Given the description of an element on the screen output the (x, y) to click on. 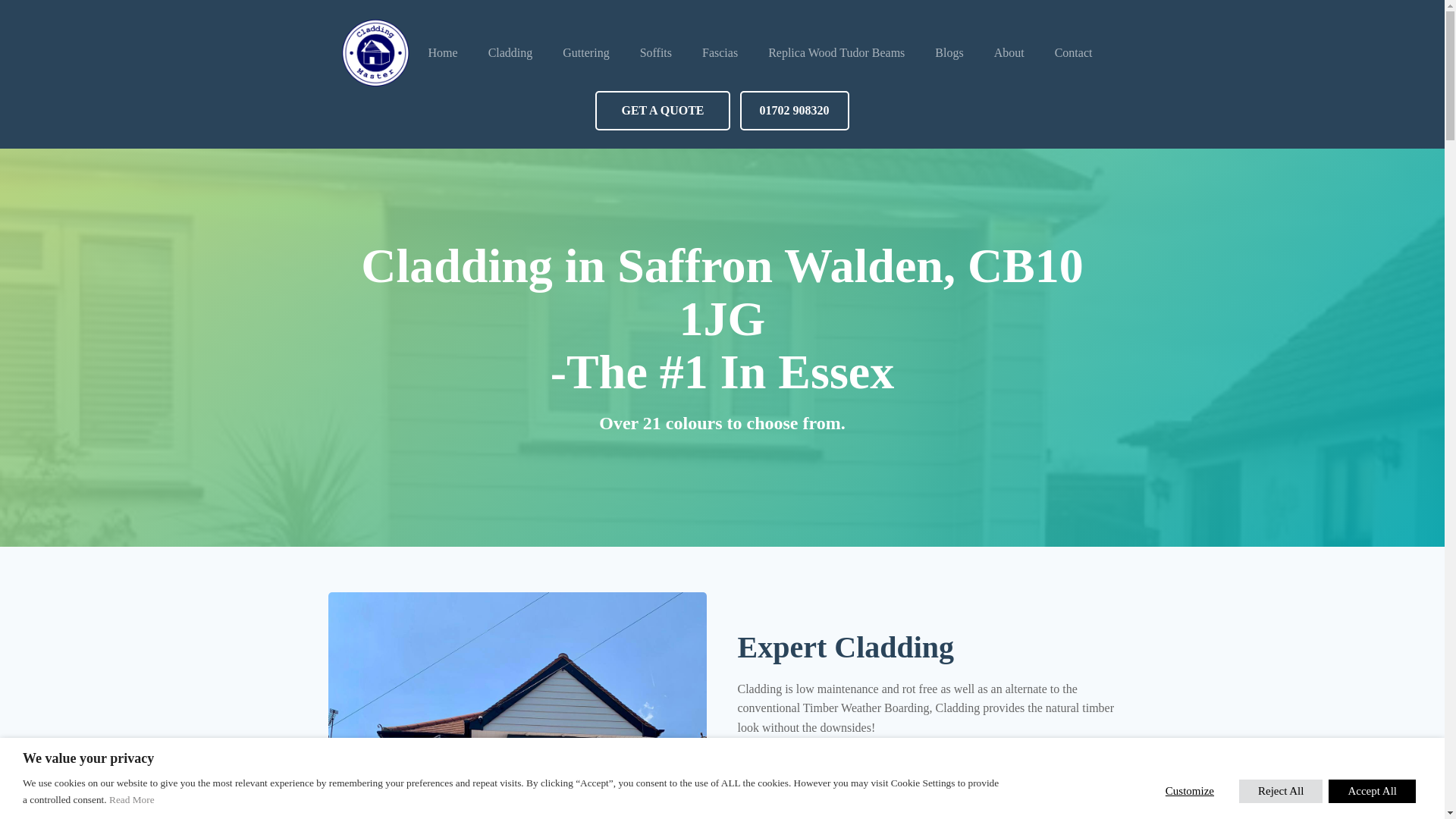
Soffits (655, 53)
01702 908320 (793, 110)
GET A QUOTE (662, 110)
Home (443, 53)
Blogs (949, 53)
About (1008, 53)
Fascias (719, 53)
Replica Wood Tudor Beams (836, 53)
Guttering (585, 53)
Cladding (510, 53)
